Given the description of an element on the screen output the (x, y) to click on. 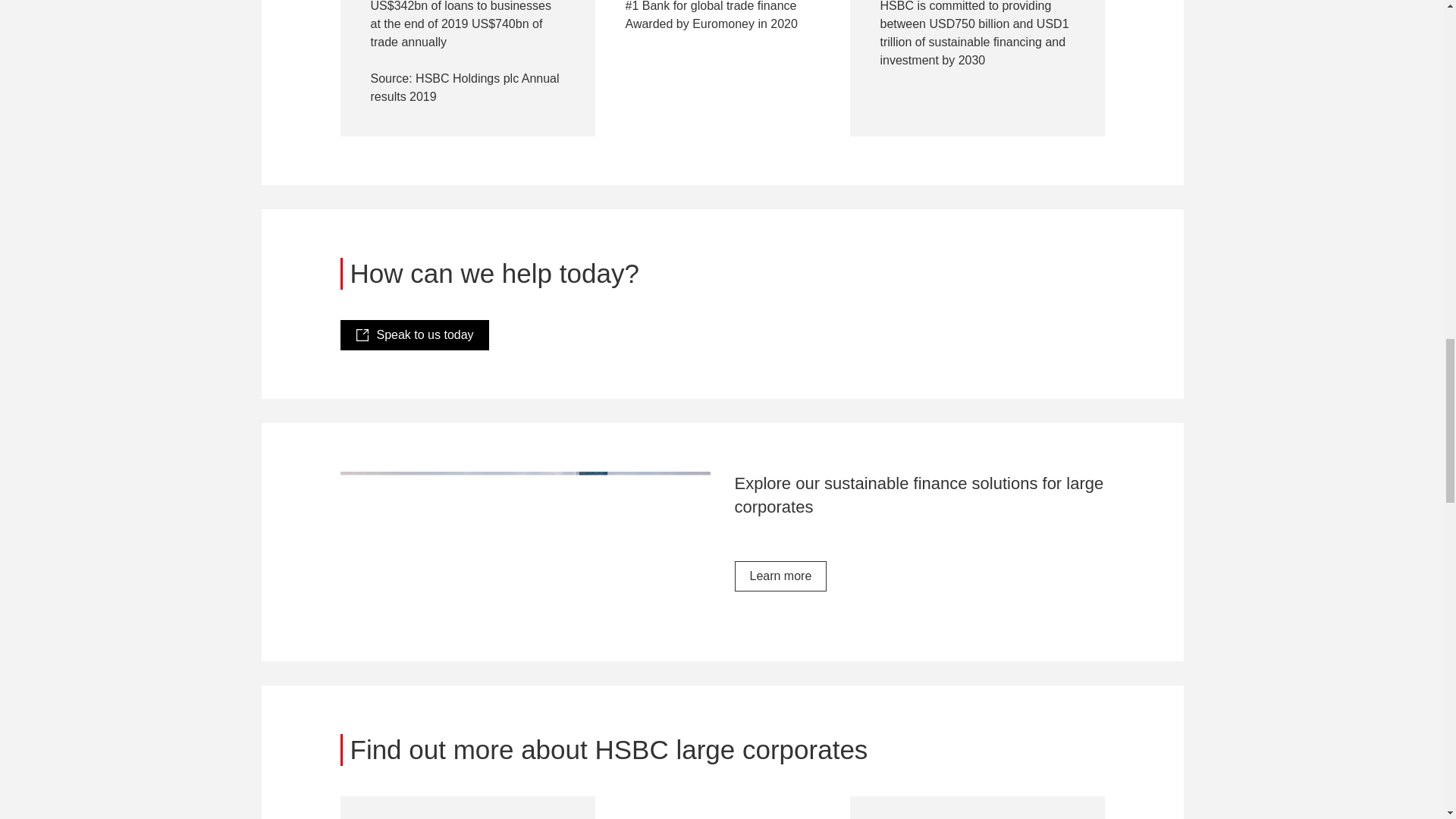
Learn more (780, 576)
Speak to us today (413, 335)
